Given the description of an element on the screen output the (x, y) to click on. 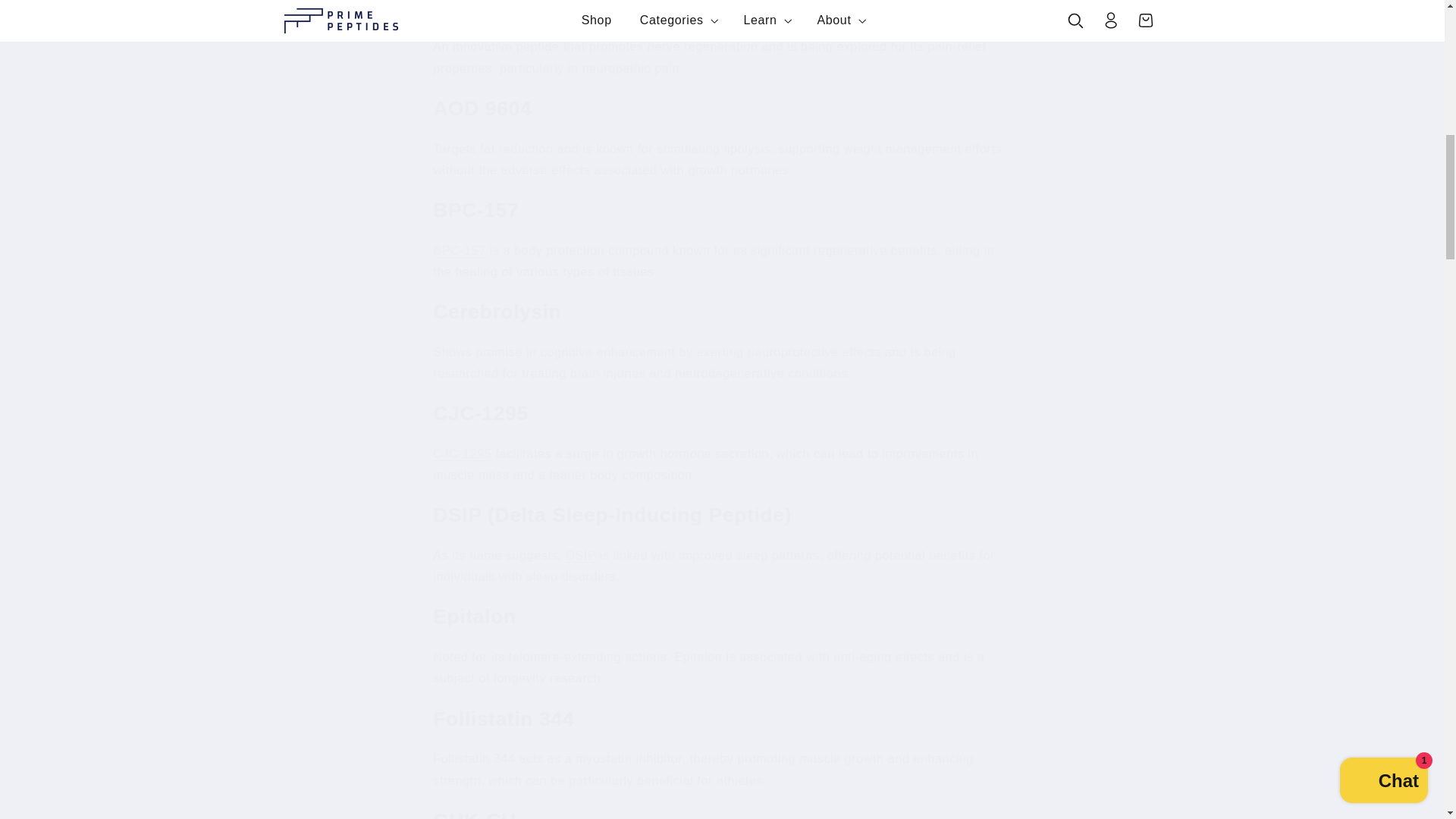
buy BPC-157 (462, 453)
buy DSIP (580, 554)
Buy BPC-157 (458, 250)
